Given the description of an element on the screen output the (x, y) to click on. 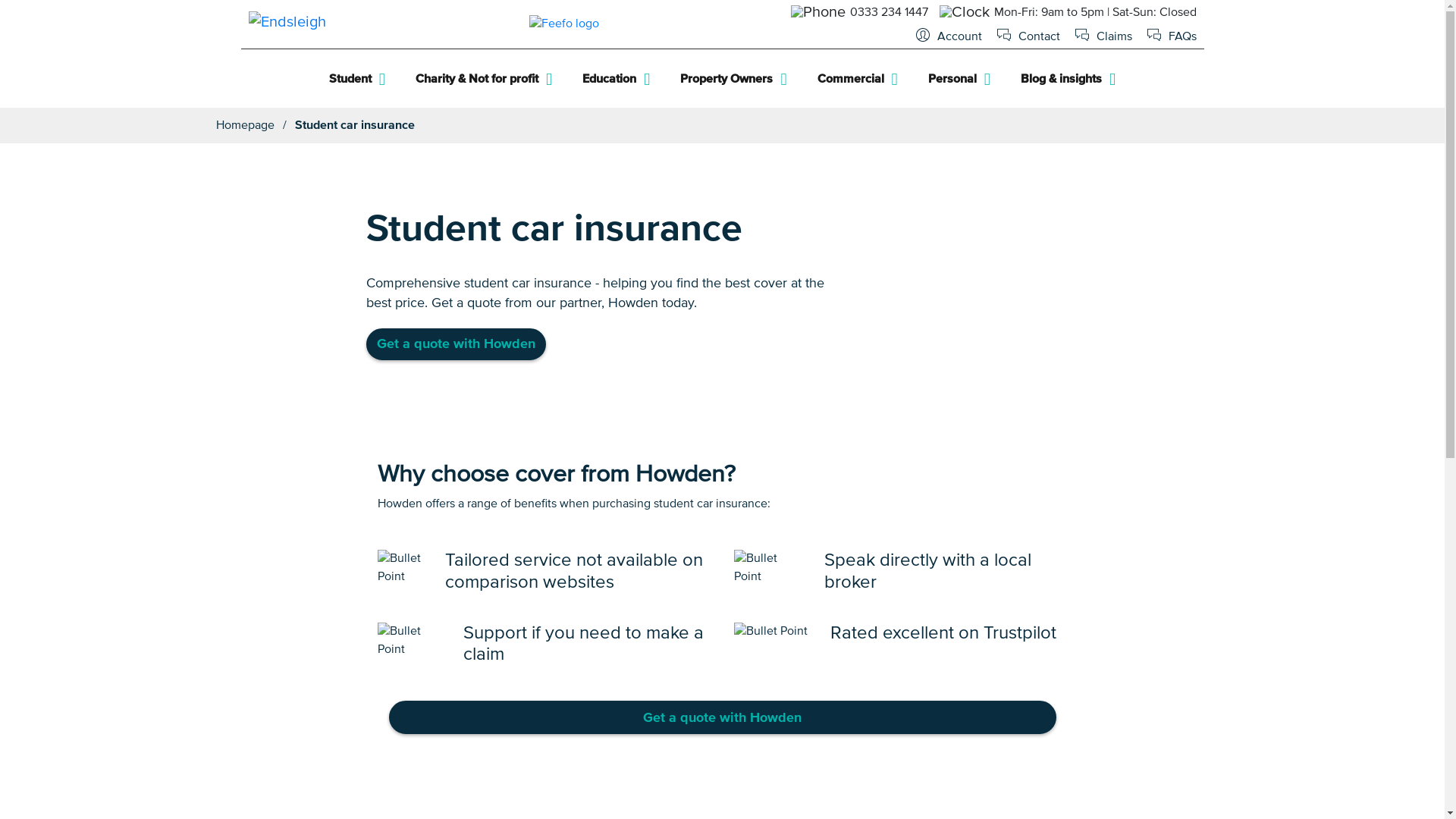
Claims (1103, 37)
FAQs (1171, 37)
See what our customers say about us (563, 24)
Account (948, 37)
Student (357, 78)
Contact (1027, 37)
